Given the description of an element on the screen output the (x, y) to click on. 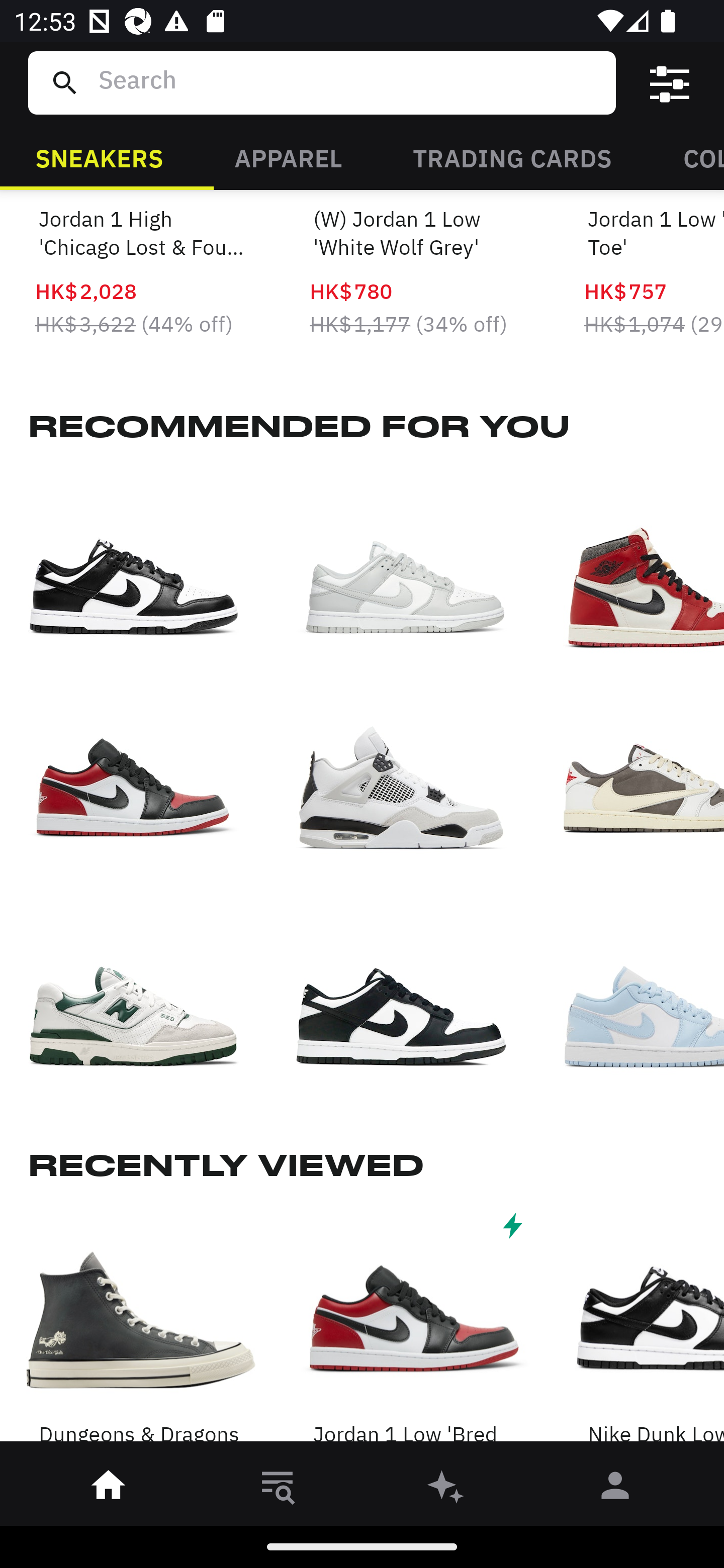
Search (349, 82)
 (669, 82)
SNEAKERS (99, 156)
APPAREL (287, 156)
TRADING CARDS (512, 156)
 Jordan 1 Low 'Bred Toe' (414, 1328)
Nike Dunk Low 'Panda' 2021 [also worn by BTS RM] (654, 1328)
󰋜 (108, 1488)
󱎸 (277, 1488)
󰫢 (446, 1488)
󰀄 (615, 1488)
